Given the description of an element on the screen output the (x, y) to click on. 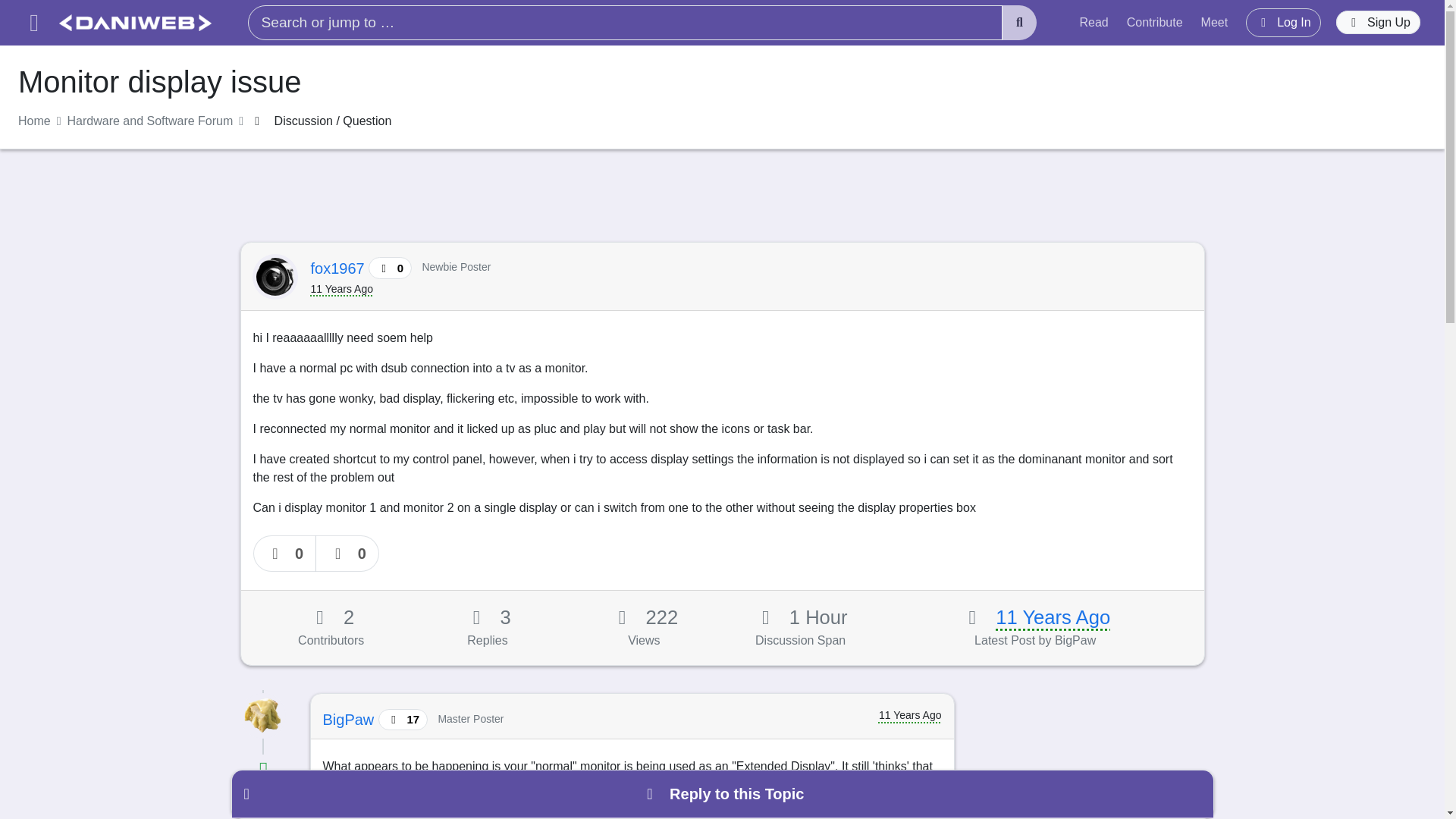
Log In (1283, 22)
Toggle Menu (33, 22)
Home (33, 120)
0 (346, 553)
11 Years Ago (1052, 617)
Search (1018, 22)
Read (1093, 22)
Menu (33, 22)
DaniWeb (135, 22)
Meet (1214, 22)
fox1967 (340, 268)
Hardware and Software Forum (149, 120)
BigPaw (350, 719)
Contribute (1155, 22)
Sign Up (1378, 22)
